Given the description of an element on the screen output the (x, y) to click on. 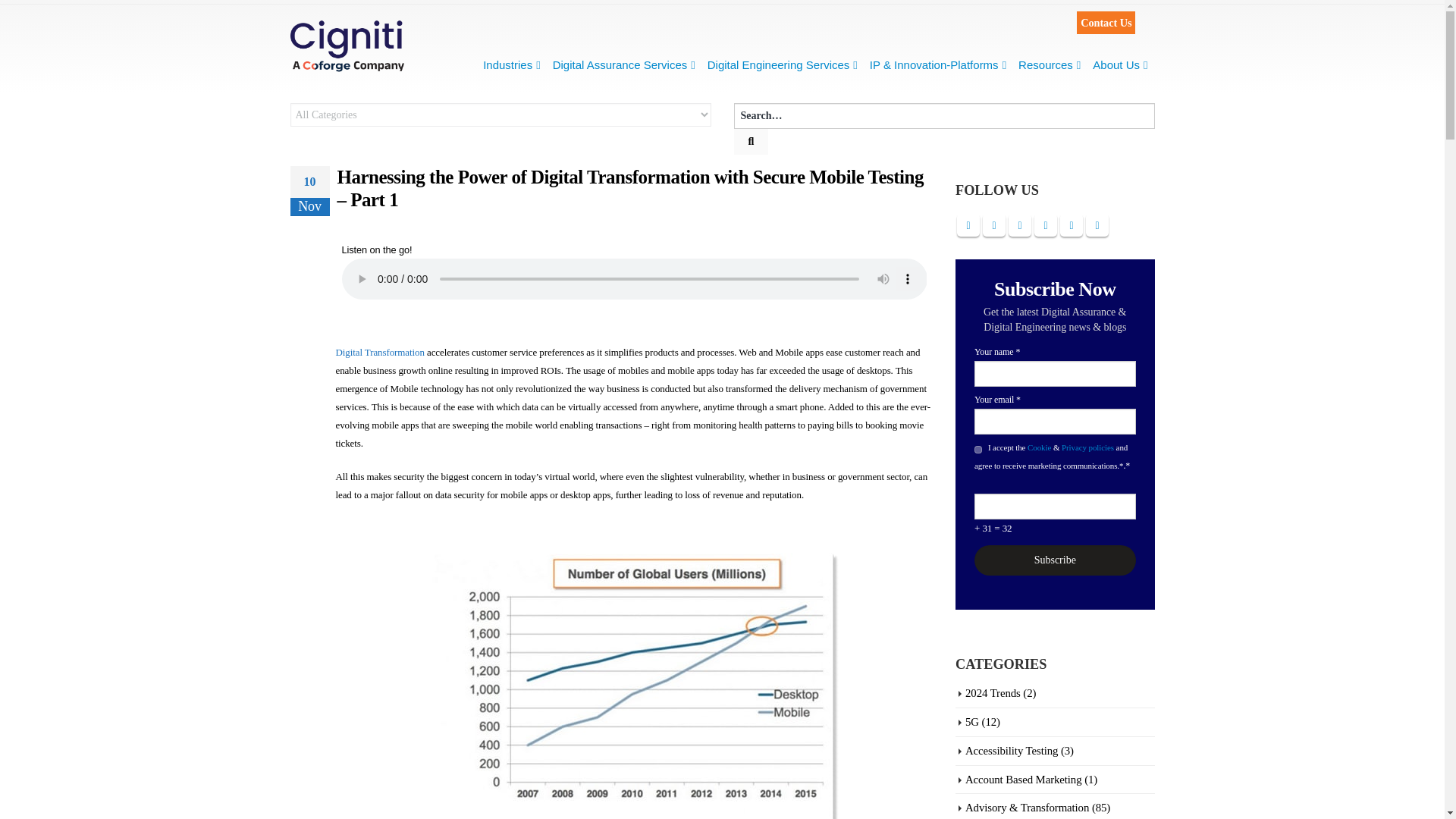
Facebook (967, 224)
Subscribe (1054, 560)
Instagram (1071, 224)
1 (977, 449)
Youtube (1045, 224)
Contact Us (1106, 22)
Industries (511, 64)
RSS (1019, 224)
Twitter (994, 224)
Digital Assurance Services (623, 64)
Search (750, 141)
